Given the description of an element on the screen output the (x, y) to click on. 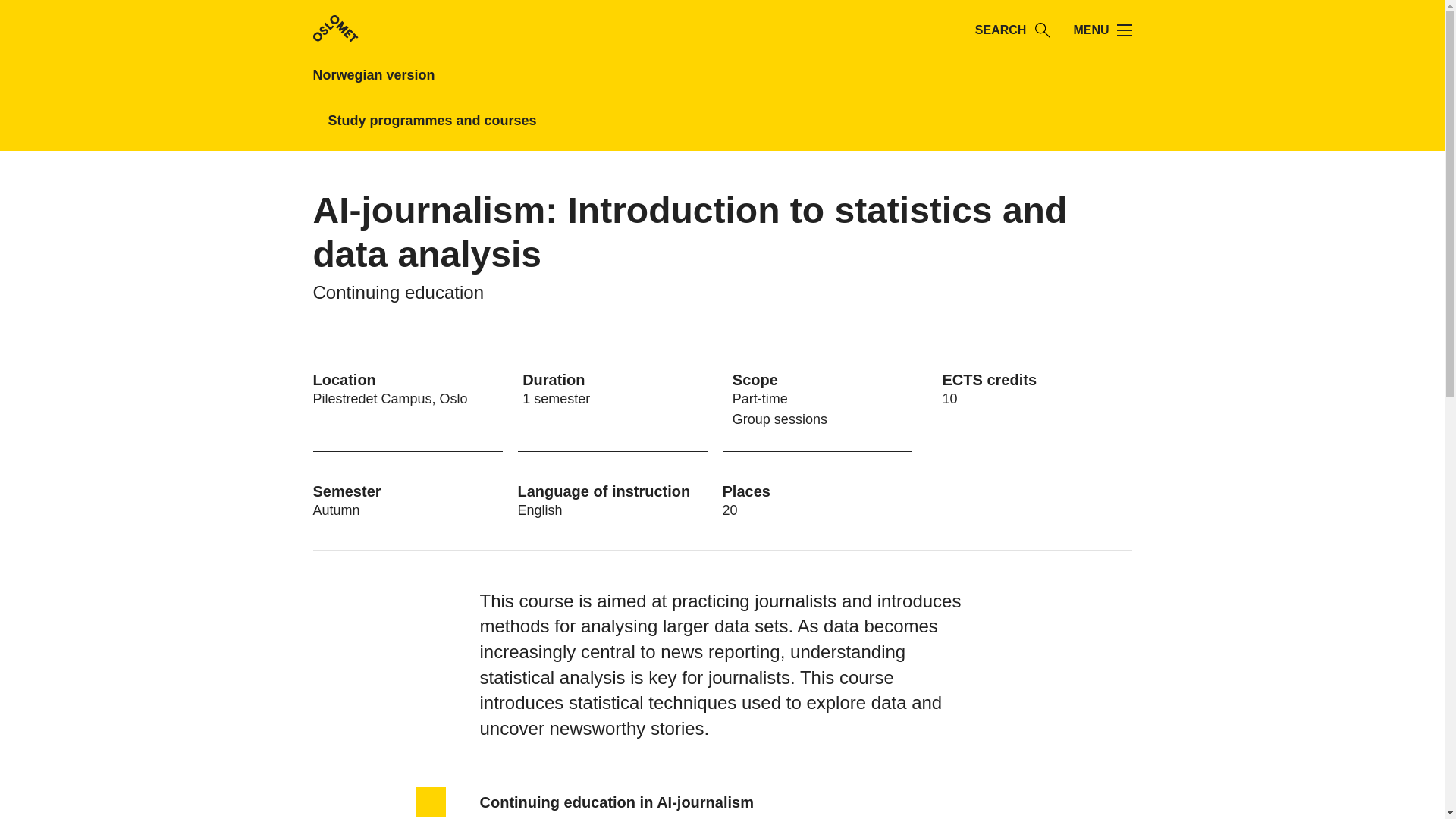
Norwegian version (430, 75)
Study programmes and courses (431, 119)
Search (1042, 29)
OsloMet - Home (335, 28)
OsloMet - Home (335, 30)
